Given the description of an element on the screen output the (x, y) to click on. 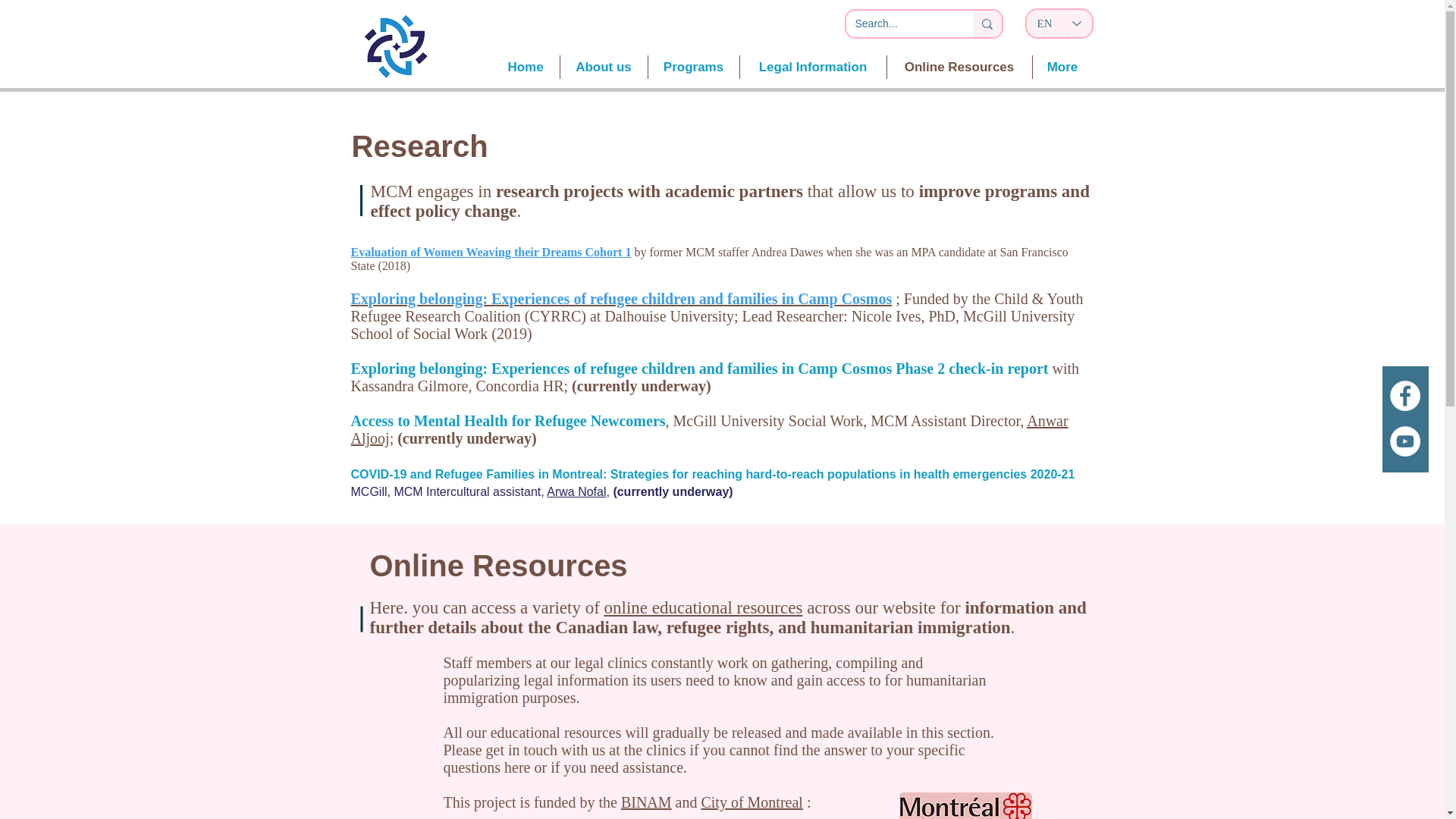
About us (602, 66)
City of Montreal (751, 801)
online educational resources (703, 607)
Programs (692, 66)
Online Resources (959, 66)
Evaluation of Women Weaving their Dreams Cohort 1 (491, 251)
clinics (665, 750)
BINAM (646, 801)
Home (525, 66)
